Given the description of an element on the screen output the (x, y) to click on. 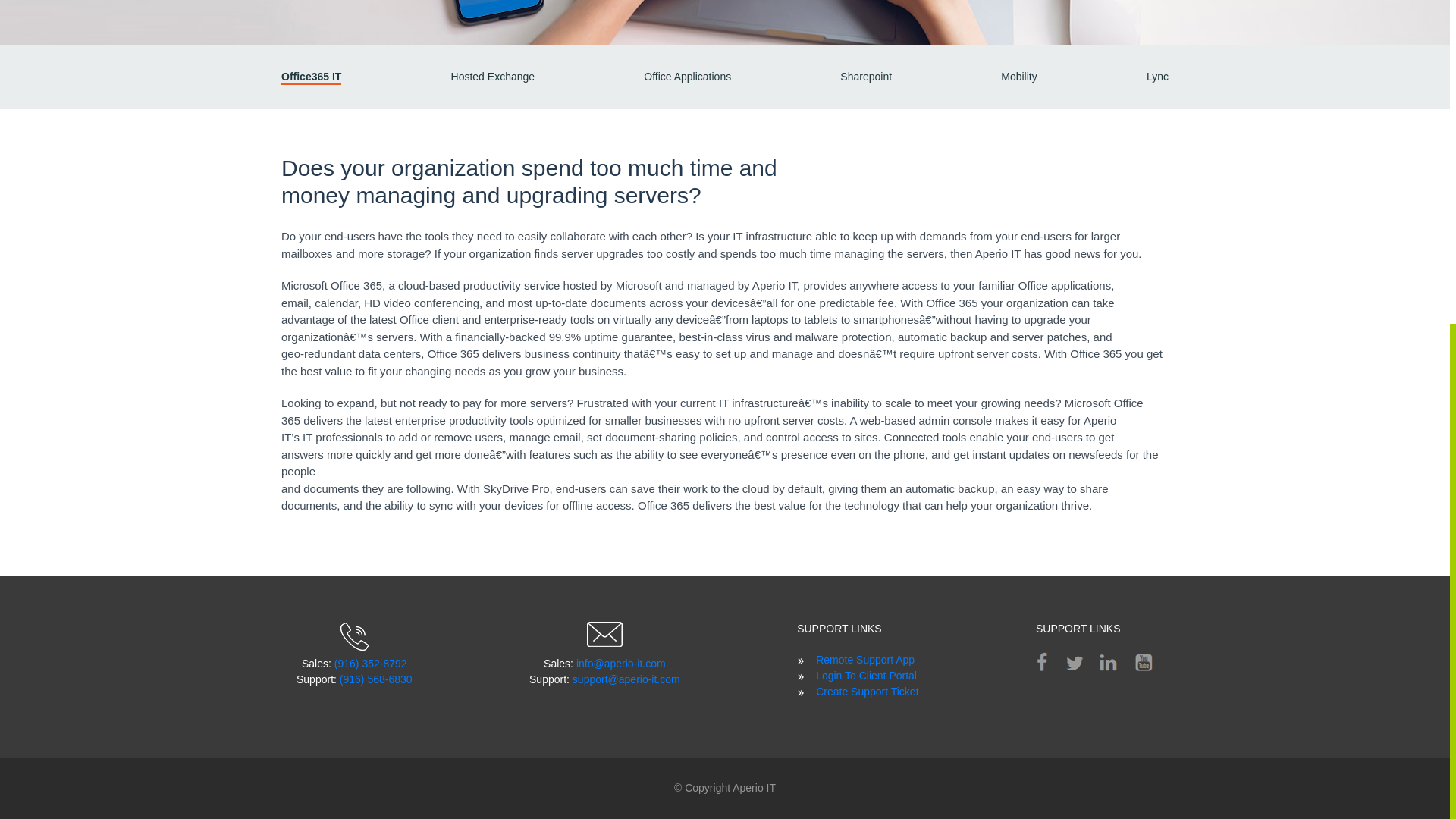
Hosted Exchange (493, 76)
Sharepoint (865, 76)
Login To Client Portal (866, 674)
Lync (1158, 76)
Remote Support App (864, 659)
Office365 IT (310, 76)
Office Applications (686, 76)
Mobility (1018, 76)
Create Support Ticket (866, 691)
